Given the description of an element on the screen output the (x, y) to click on. 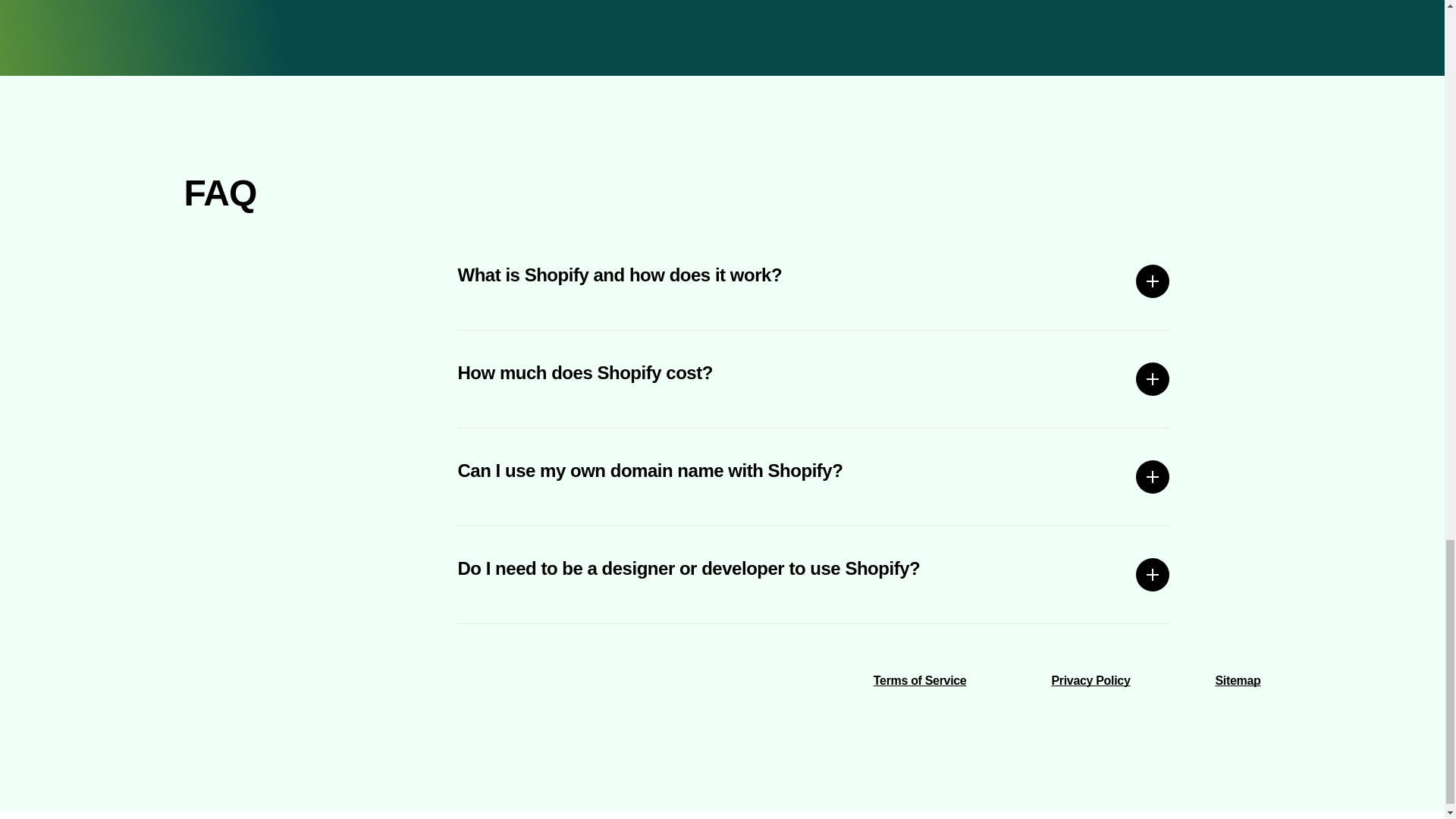
What is Shopify and how does it work? (814, 280)
Do I need to be a designer or developer to use Shopify? (814, 574)
Privacy Policy (1090, 680)
Can I use my own domain name with Shopify? (814, 476)
Terms of Service (919, 680)
Sitemap (1237, 680)
How much does Shopify cost? (814, 379)
